Given the description of an element on the screen output the (x, y) to click on. 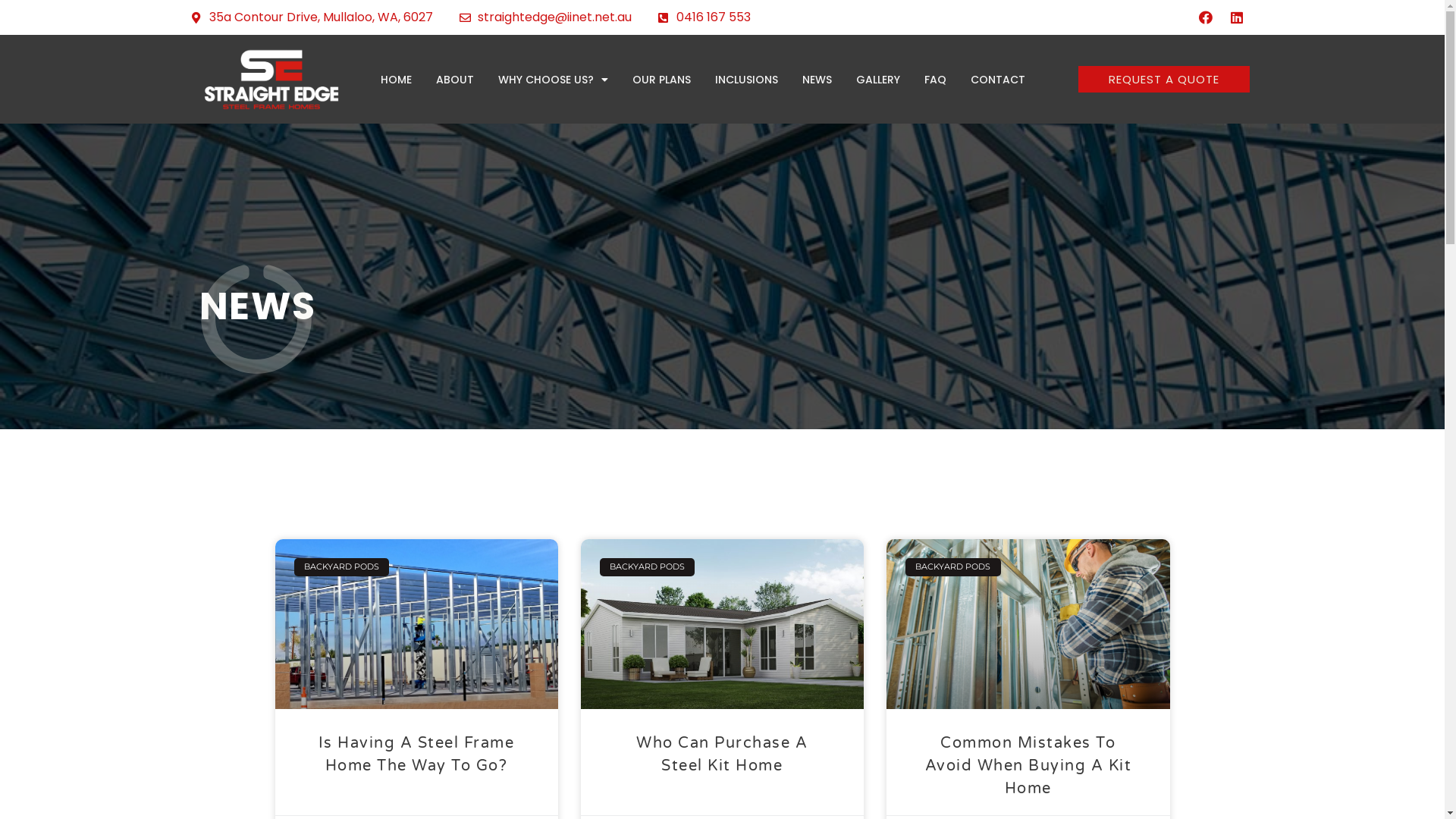
ABOUT Element type: text (454, 79)
CONTACT Element type: text (997, 79)
WHY CHOOSE US? Element type: text (553, 79)
FAQ Element type: text (935, 79)
straightedge@iinet.net.au Element type: text (545, 17)
INCLUSIONS Element type: text (746, 79)
Common Mistakes To Avoid When Buying A Kit Home Element type: text (1028, 765)
0416 167 553 Element type: text (704, 17)
REQUEST A QUOTE Element type: text (1163, 78)
HOME Element type: text (395, 79)
Is Having A Steel Frame Home The Way To Go? Element type: text (416, 754)
NEWS Element type: text (817, 79)
GALLERY Element type: text (878, 79)
Who Can Purchase A Steel Kit Home Element type: text (721, 754)
OUR PLANS Element type: text (661, 79)
